Given the description of an element on the screen output the (x, y) to click on. 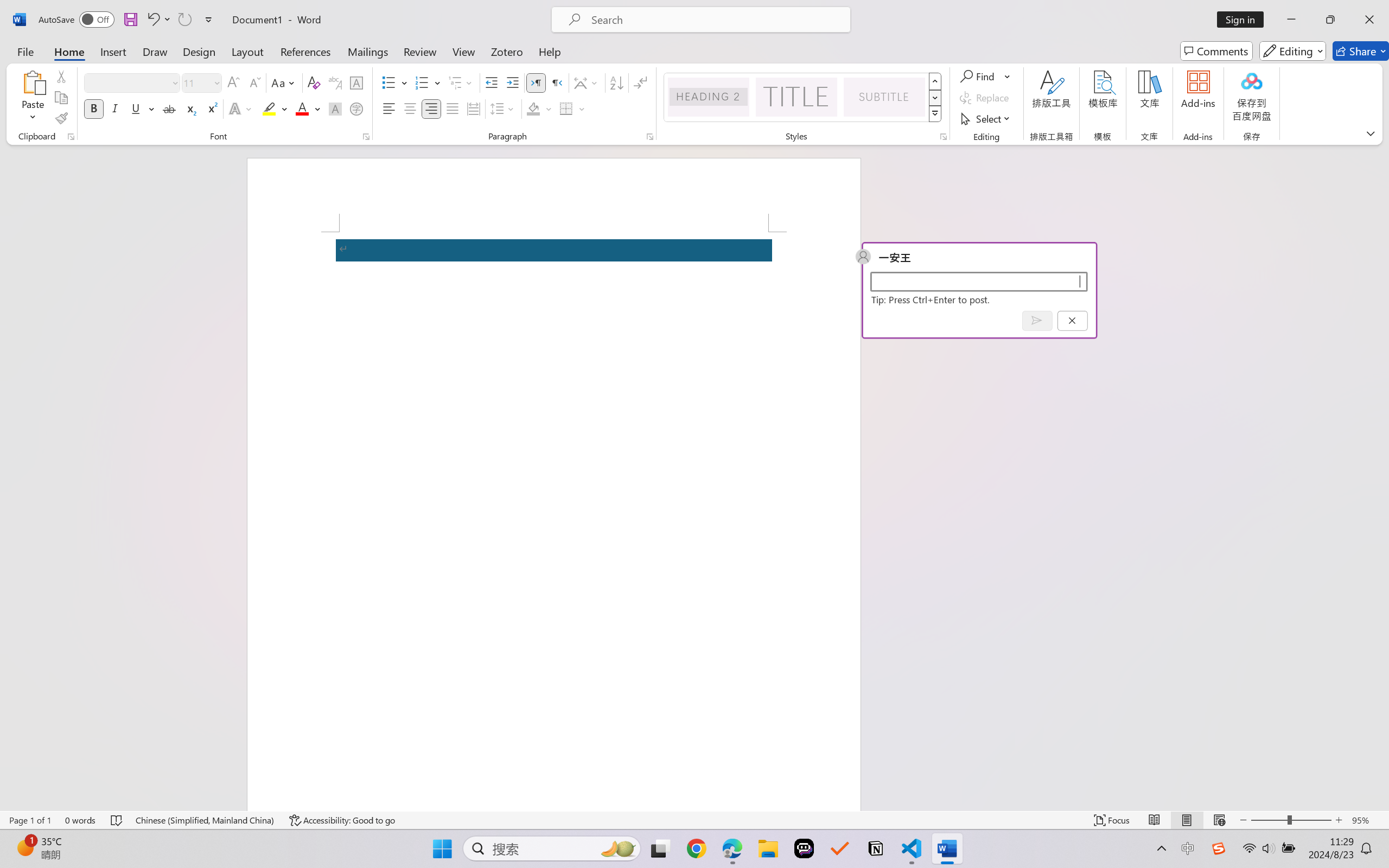
Right-to-Left (556, 82)
Language Chinese (Simplified, Mainland China) (205, 819)
